Given the description of an element on the screen output the (x, y) to click on. 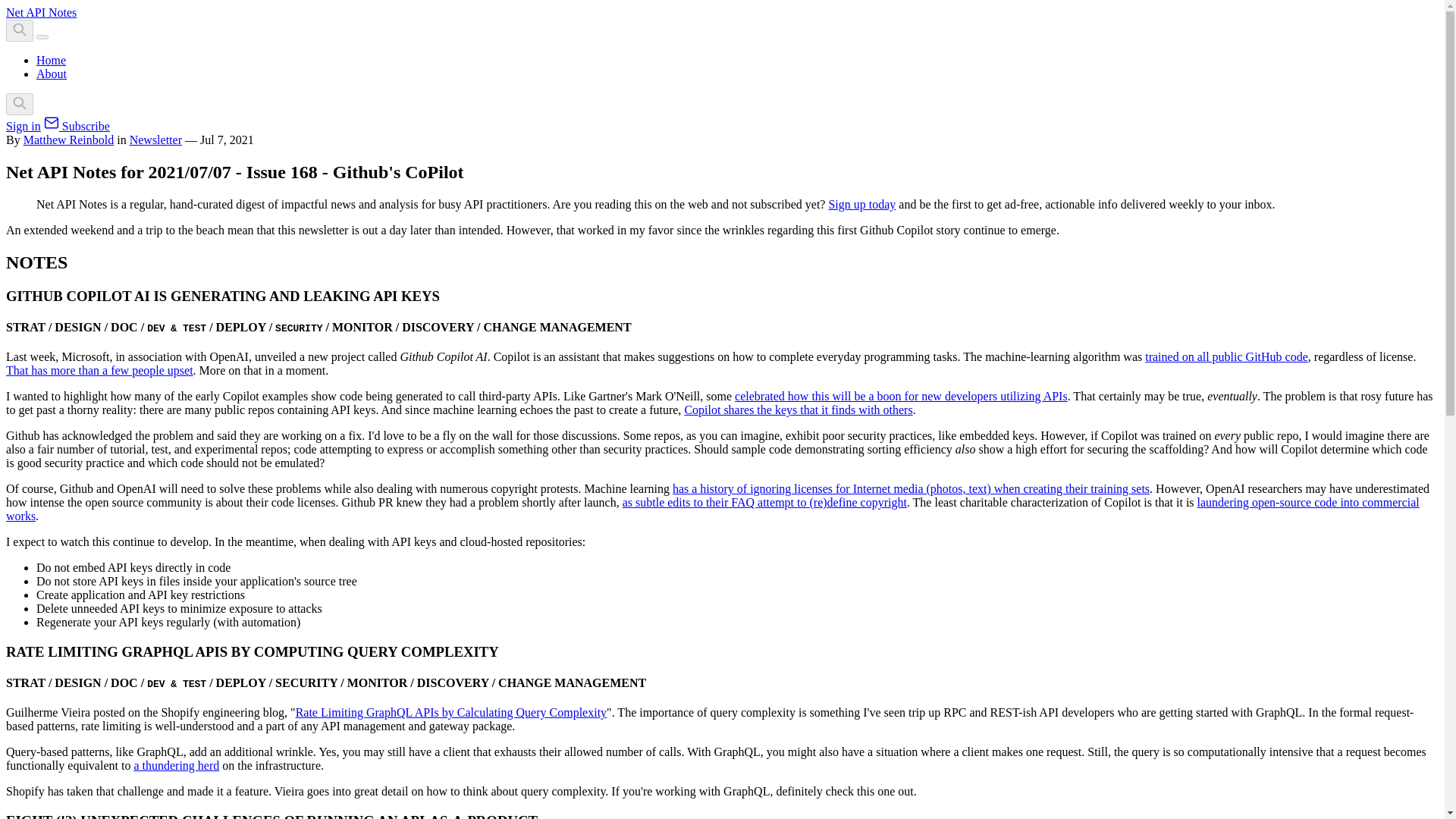
Copilot shares the keys that it finds with others (798, 409)
Sign up today (861, 204)
laundering open-source code into commercial works (712, 509)
Rate Limiting GraphQL APIs by Calculating Query Complexity (451, 712)
About (51, 73)
a thundering herd (176, 765)
Matthew Reinbold (69, 139)
That has more than a few people upset (99, 369)
trained on all public GitHub code (1225, 356)
Net API Notes (41, 11)
Newsletter (155, 139)
Home (50, 60)
Sign in (22, 125)
Subscribe (76, 125)
